Given the description of an element on the screen output the (x, y) to click on. 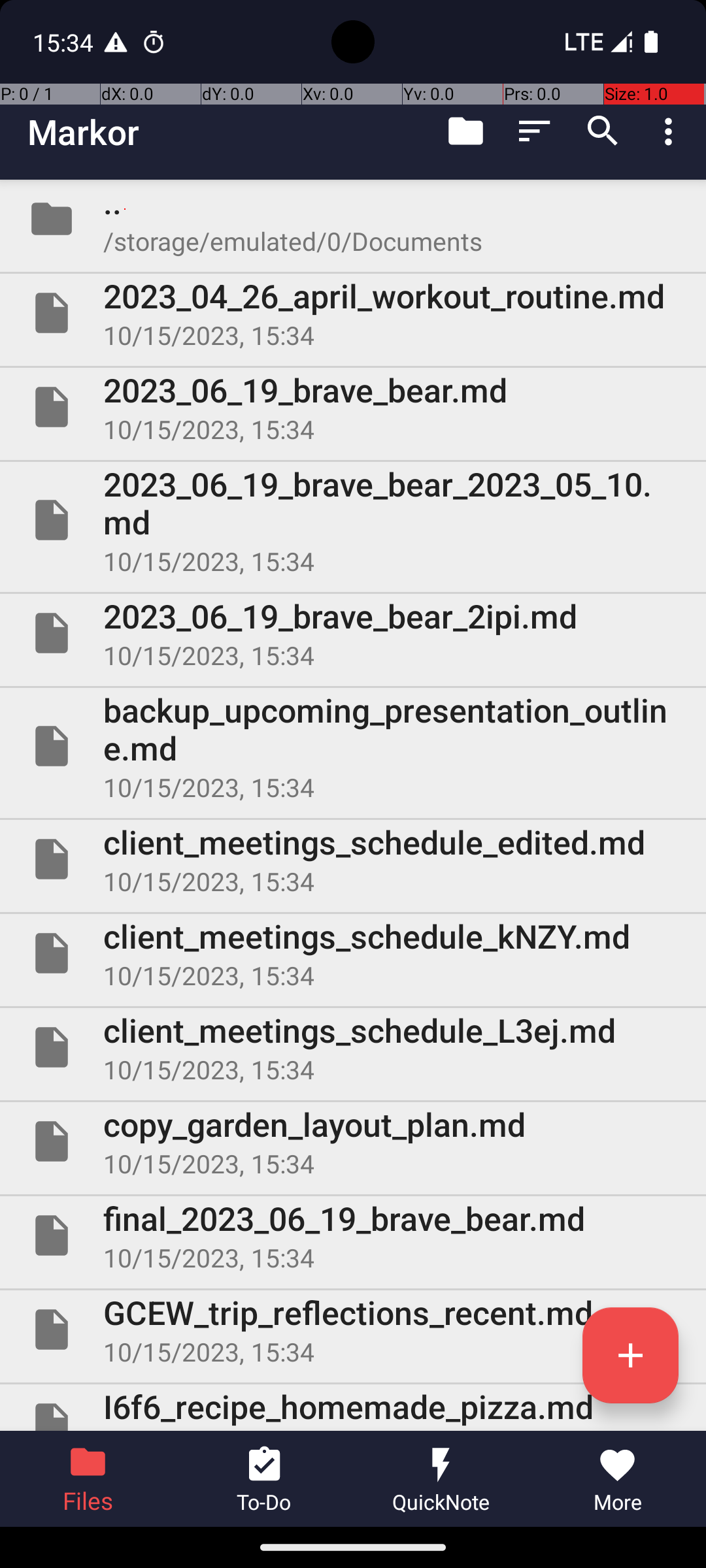
Create a new file or folder Element type: android.widget.ImageButton (630, 1355)
Markor Element type: android.widget.TextView (83, 131)
Go to Element type: android.widget.TextView (465, 131)
Sort by Element type: android.widget.TextView (534, 131)
To-Do Element type: android.widget.FrameLayout (264, 1478)
QuickNote Element type: android.widget.FrameLayout (441, 1478)
More Element type: android.widget.FrameLayout (617, 1478)
Folder ..  Element type: android.widget.LinearLayout (353, 218)
File 2023_04_26_april_workout_routine.md  Element type: android.widget.LinearLayout (353, 312)
File 2023_06_19_brave_bear.md  Element type: android.widget.LinearLayout (353, 406)
File 2023_06_19_brave_bear_2023_05_10.md  Element type: android.widget.LinearLayout (353, 519)
File 2023_06_19_brave_bear_2ipi.md  Element type: android.widget.LinearLayout (353, 632)
File backup_upcoming_presentation_outline.md  Element type: android.widget.LinearLayout (353, 745)
File client_meetings_schedule_edited.md  Element type: android.widget.LinearLayout (353, 858)
File client_meetings_schedule_kNZY.md  Element type: android.widget.LinearLayout (353, 953)
File client_meetings_schedule_L3ej.md  Element type: android.widget.LinearLayout (353, 1047)
File copy_garden_layout_plan.md  Element type: android.widget.LinearLayout (353, 1141)
File final_2023_06_19_brave_bear.md  Element type: android.widget.LinearLayout (353, 1235)
File GCEW_trip_reflections_recent.md  Element type: android.widget.LinearLayout (353, 1329)
File I6f6_recipe_homemade_pizza.md  Element type: android.widget.LinearLayout (353, 1407)
